Given the description of an element on the screen output the (x, y) to click on. 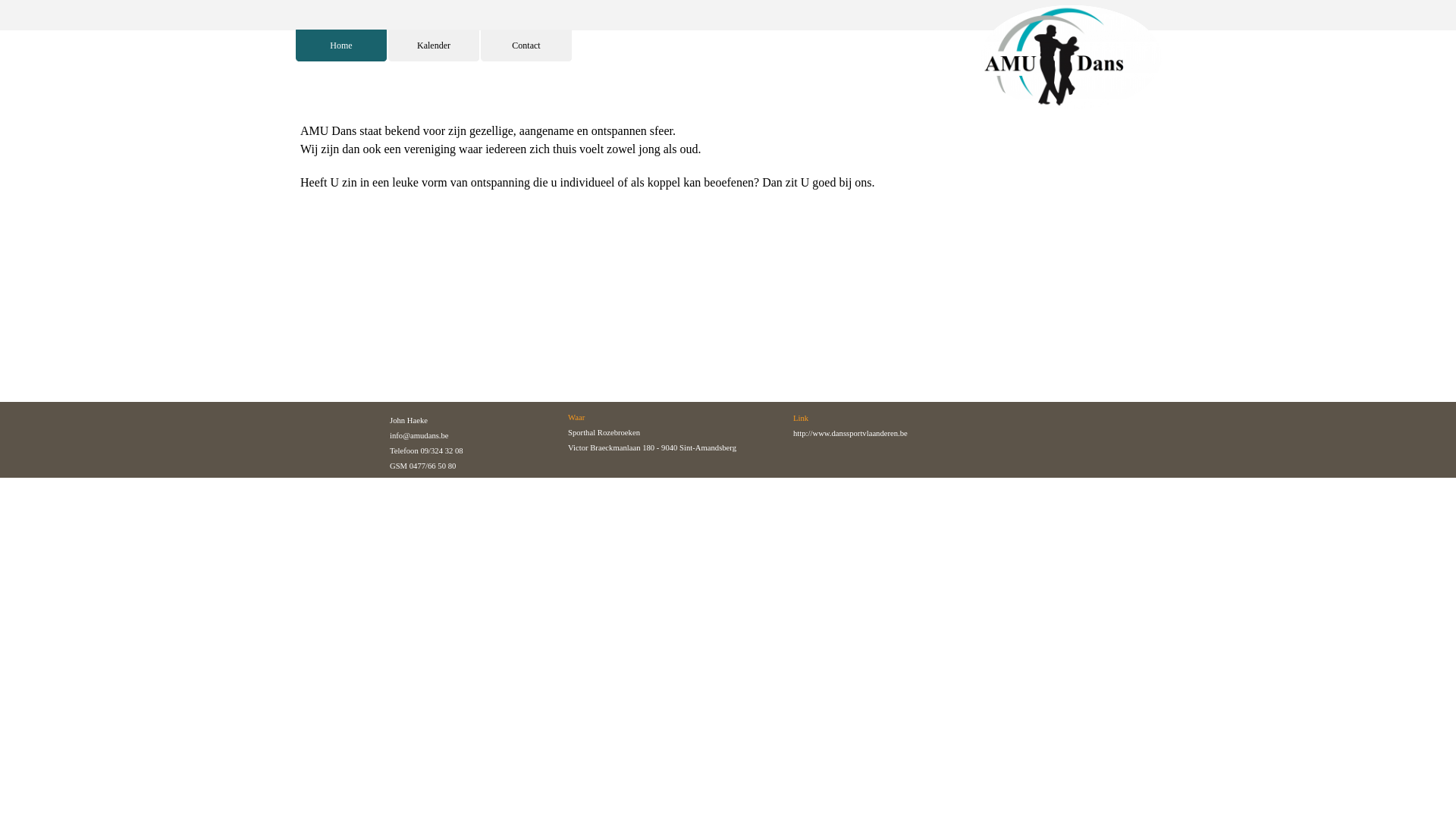
Contact Element type: text (525, 45)
info@amudans.be Element type: text (418, 435)
Kalender Element type: text (433, 45)
http://www.danssportvlaanderen.be Element type: text (850, 433)
Home Element type: text (340, 45)
